Given the description of an element on the screen output the (x, y) to click on. 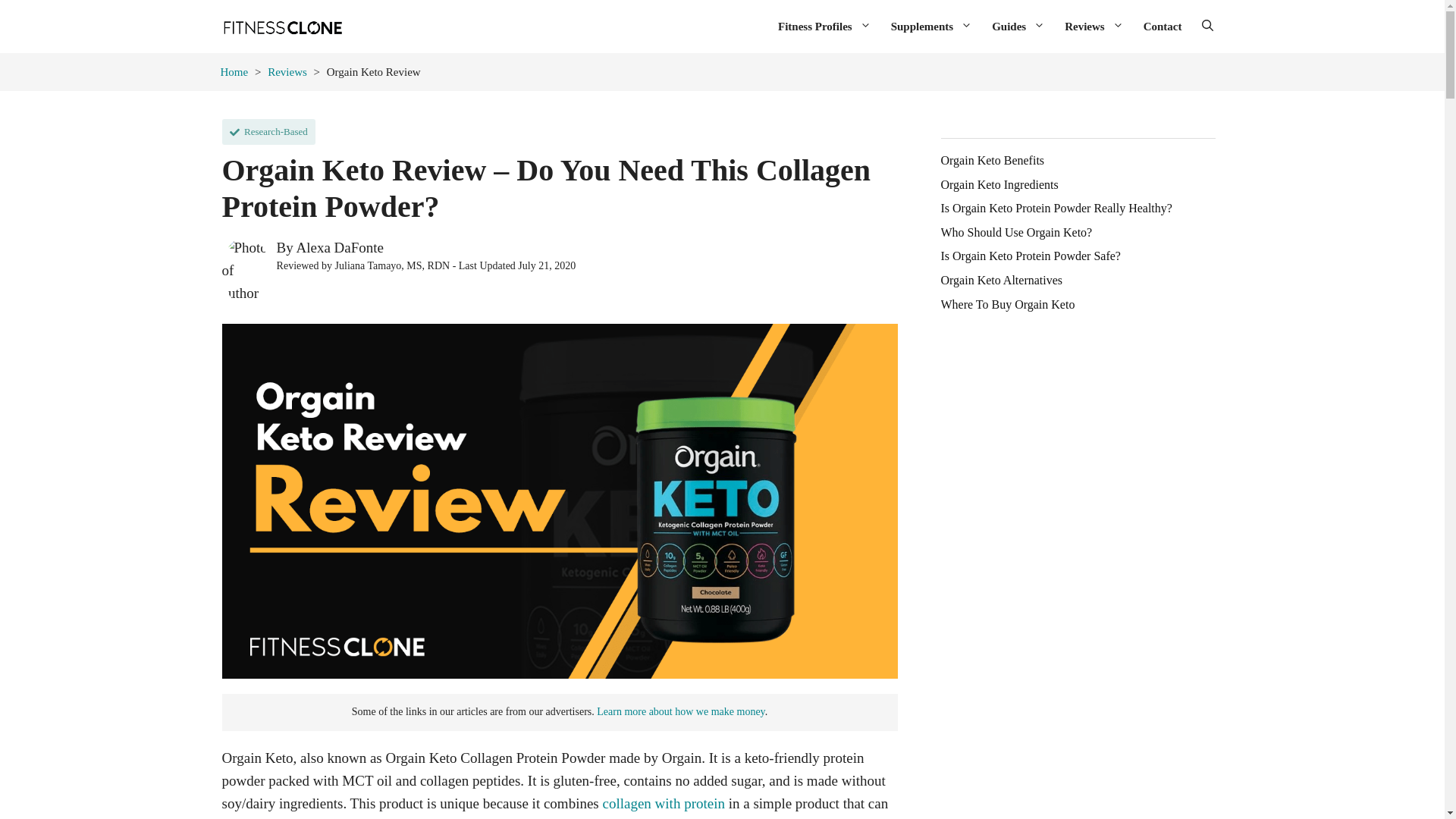
Fitness Profiles (824, 25)
Is Orgain Keto Protein Powder Safe? (1029, 256)
Orgain Keto Alternatives (1001, 280)
Supplements (931, 25)
Who Should Use Orgain Keto? (1016, 232)
Is Orgain Keto Protein Powder Really Healthy? (1056, 208)
Guides (1017, 25)
Reviews (1094, 25)
Orgain Keto Ingredients (999, 184)
Where To Buy Orgain Keto (1007, 304)
